Given the description of an element on the screen output the (x, y) to click on. 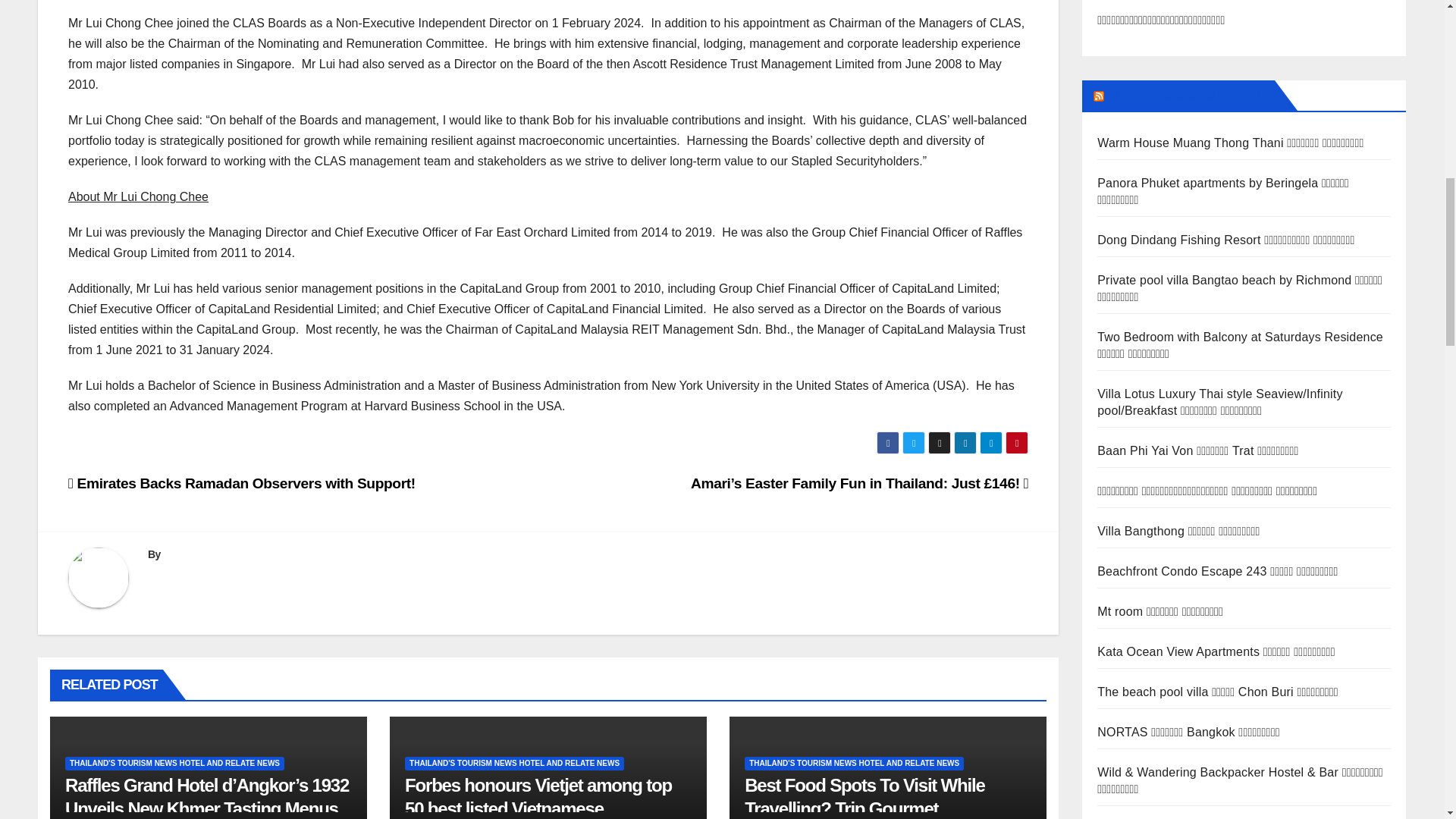
THAILAND'S TOURISM NEWS HOTEL AND RELATE NEWS (853, 763)
THAILAND'S TOURISM NEWS HOTEL AND RELATE NEWS (174, 763)
Emirates Backs Ramadan Observers with Support! (241, 483)
THAILAND'S TOURISM NEWS HOTEL AND RELATE NEWS (514, 763)
